Given the description of an element on the screen output the (x, y) to click on. 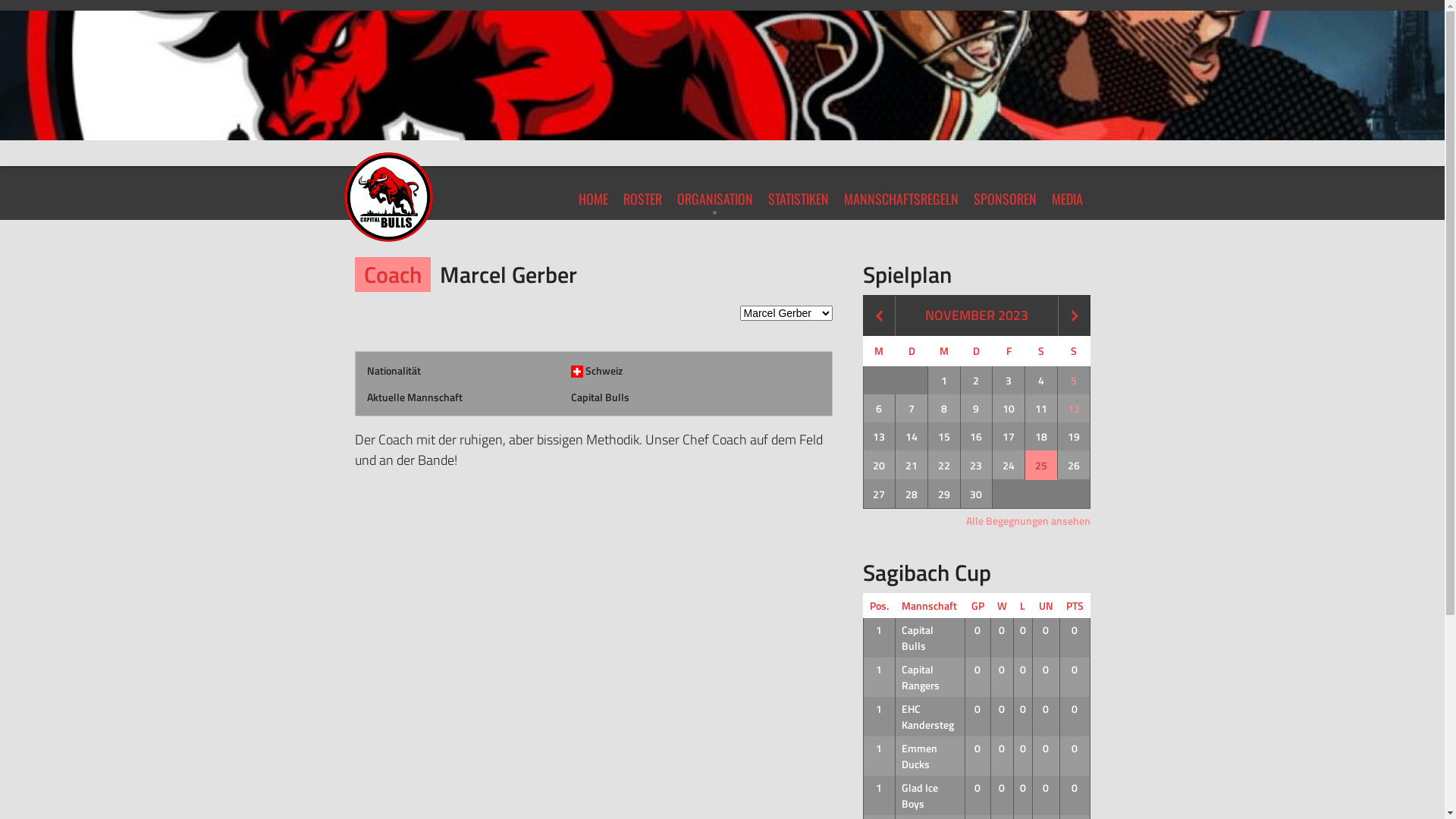
MANNSCHAFTSREGELN Element type: text (900, 192)
Alle Begegnungen ansehen Element type: text (1028, 520)
STATISTIKEN Element type: text (797, 192)
SPONSOREN Element type: text (1005, 192)
ROSTER Element type: text (642, 192)
ORGANISATION Element type: text (713, 192)
12 Element type: text (1073, 408)
MEDIA Element type: text (1066, 192)
5 Element type: text (1073, 380)
HOME Element type: text (592, 192)
